Given the description of an element on the screen output the (x, y) to click on. 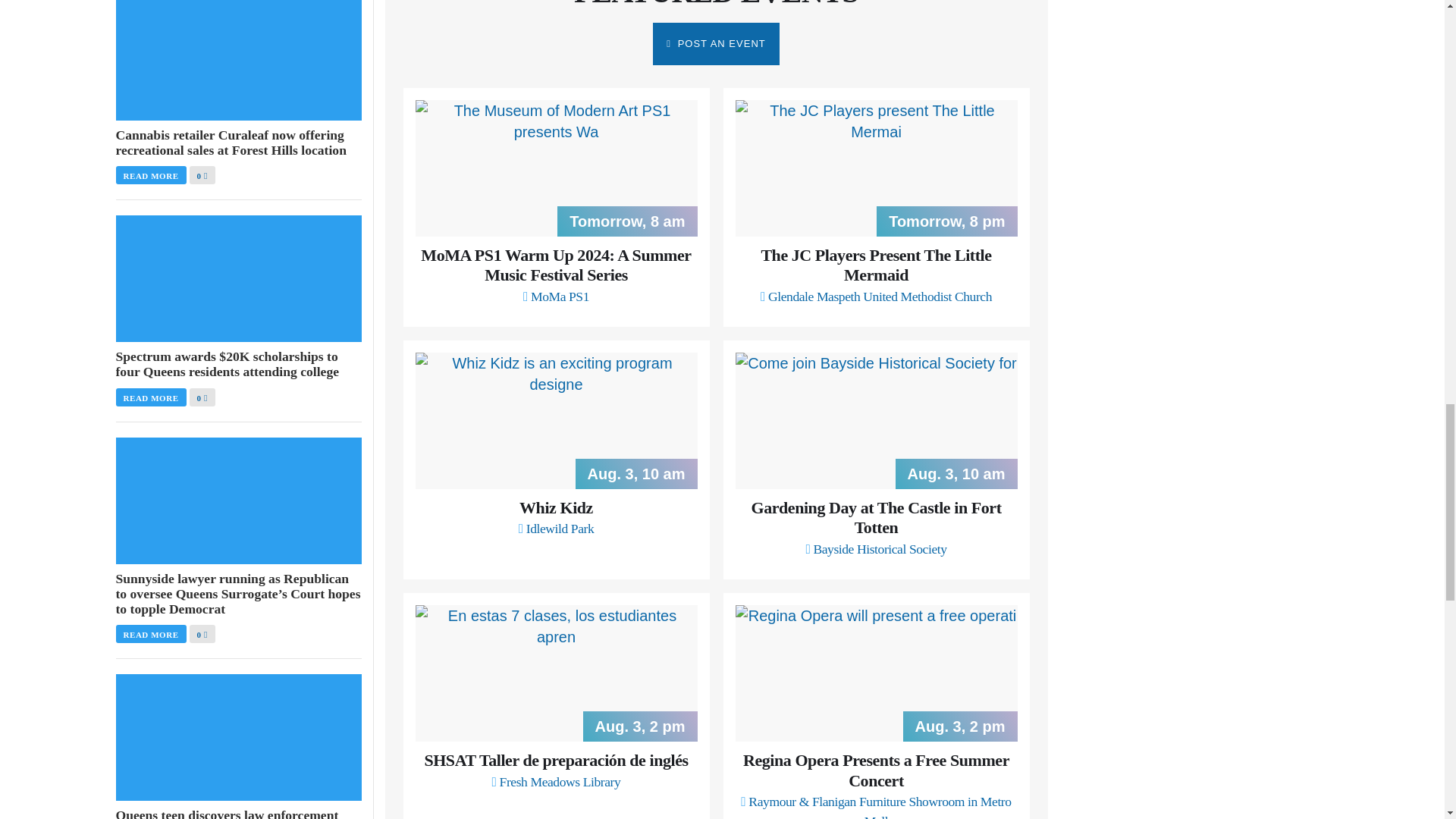
POST AN EVENT (715, 43)
FEATURED EVENTS (716, 4)
